Given the description of an element on the screen output the (x, y) to click on. 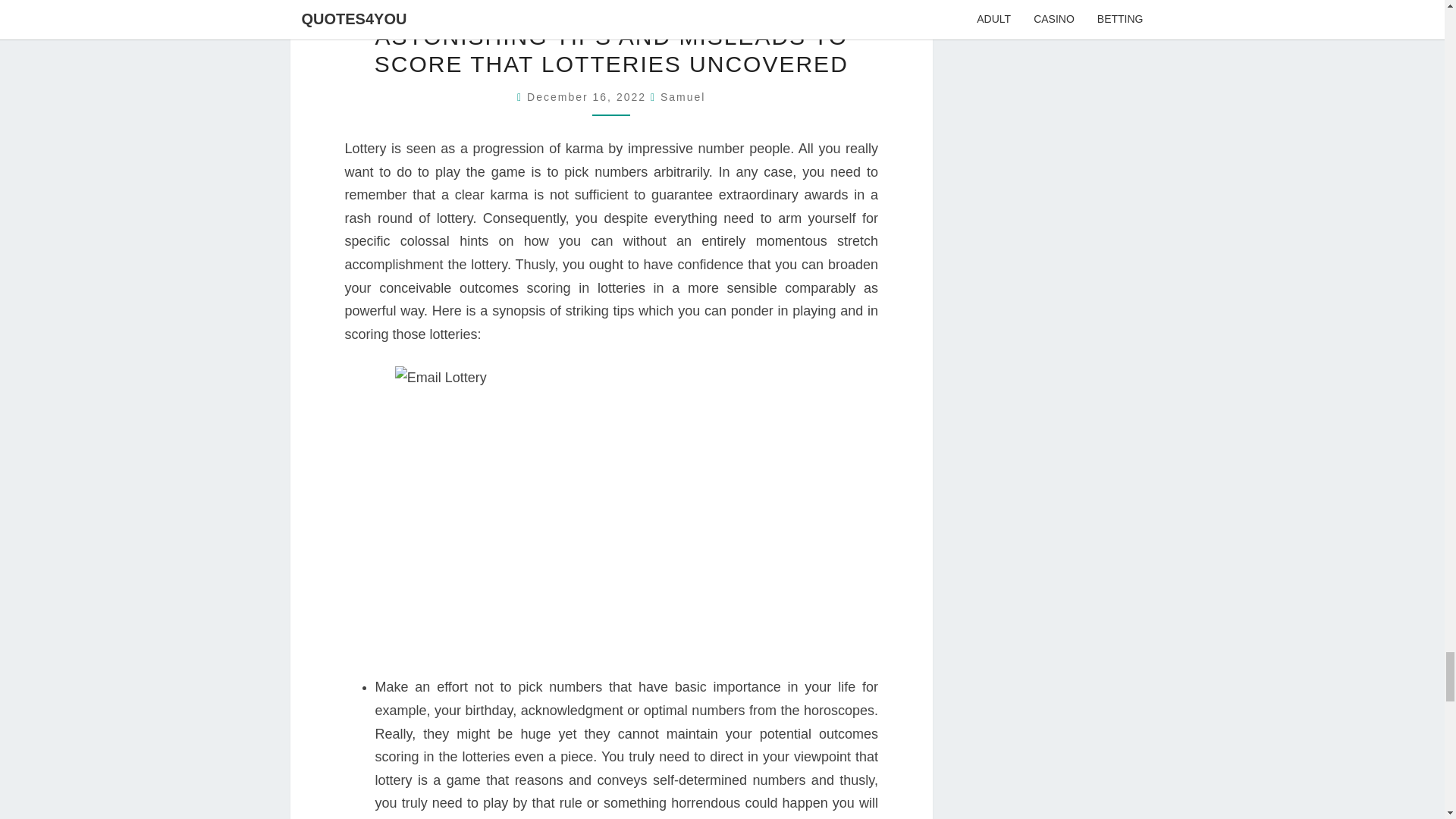
December 16, 2022 (588, 96)
